Given the description of an element on the screen output the (x, y) to click on. 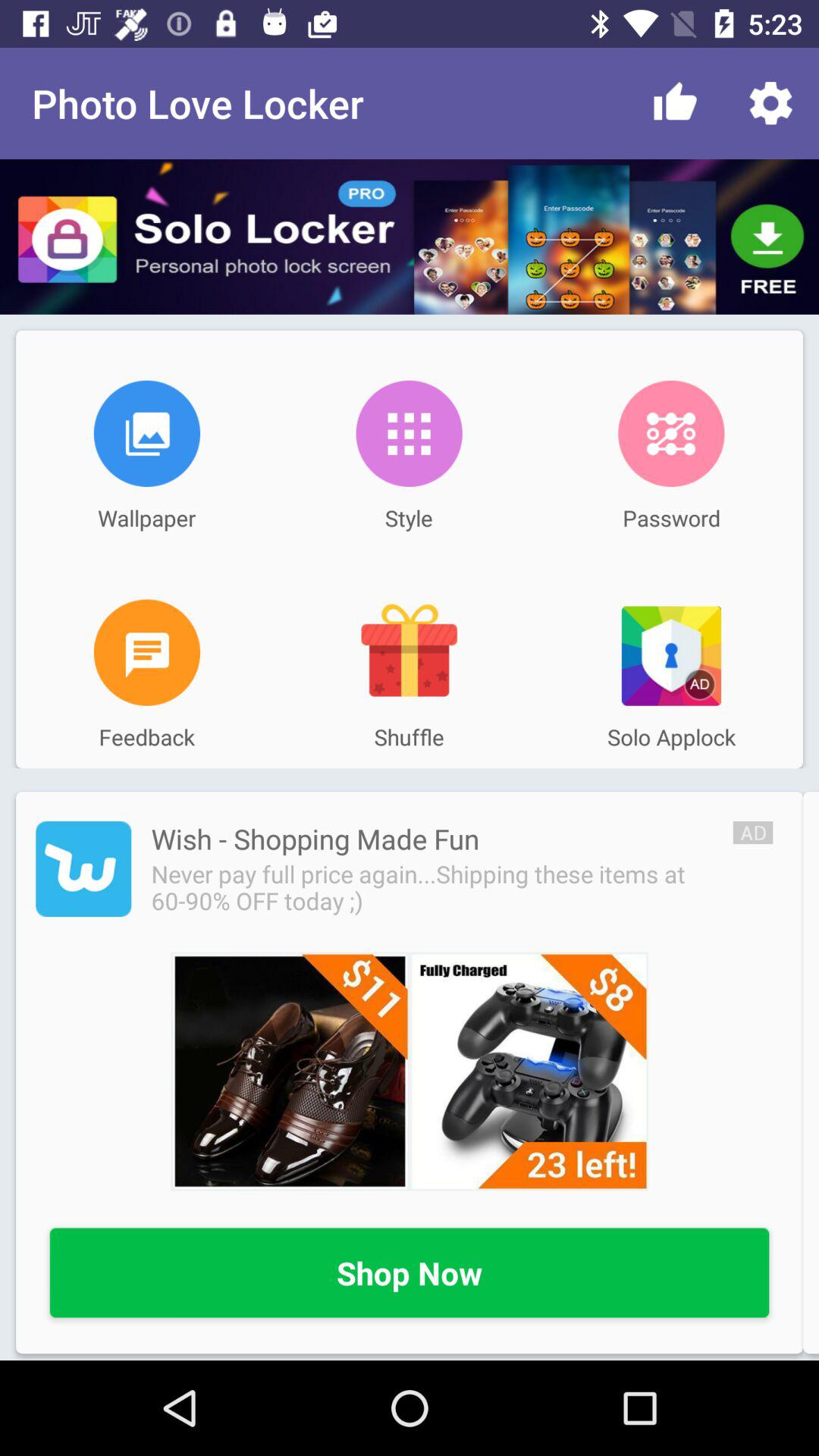
turn on the icon above password icon (671, 433)
